Given the description of an element on the screen output the (x, y) to click on. 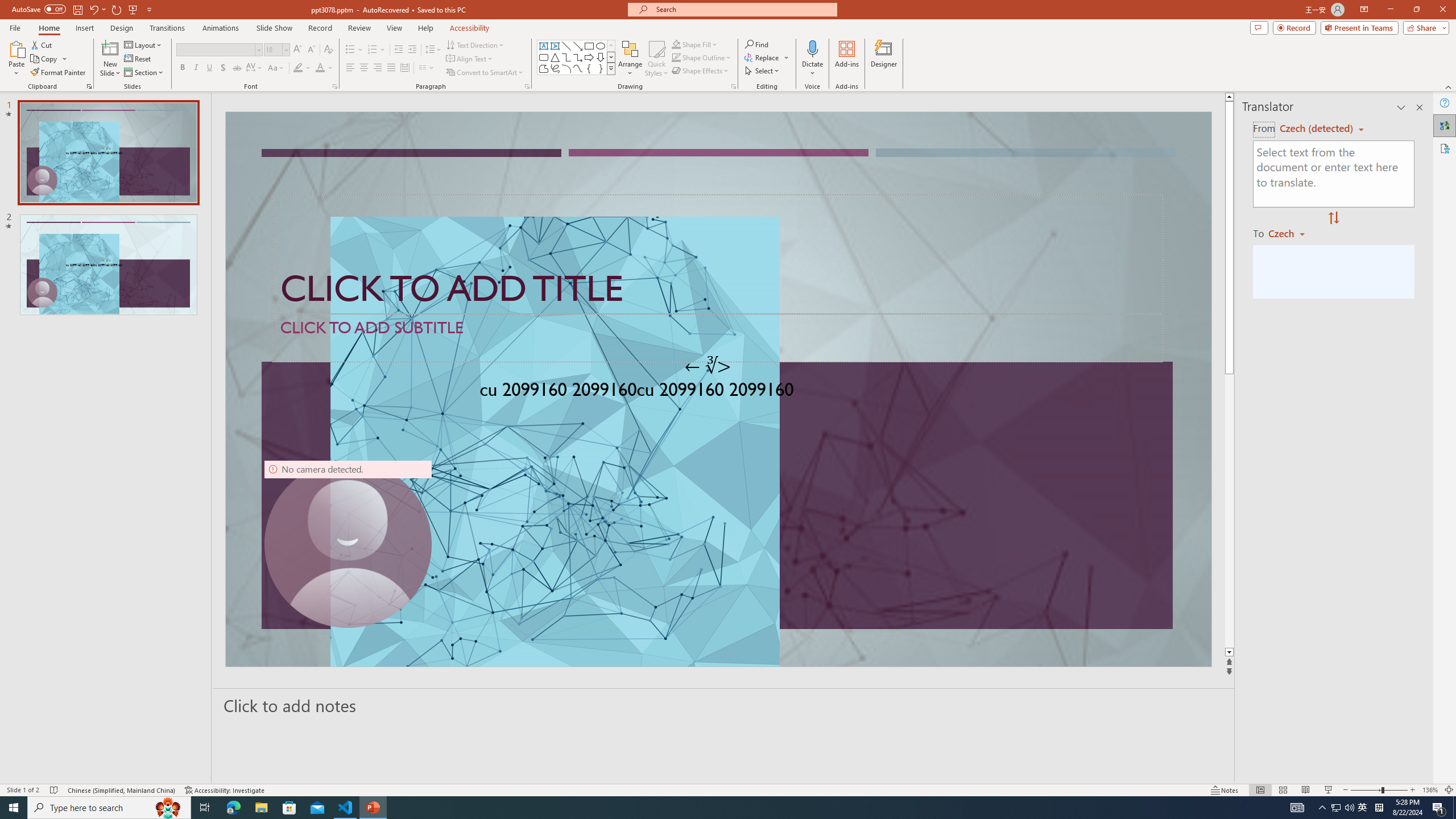
TextBox 7 (707, 366)
Camera 9, No camera detected. (347, 543)
